Given the description of an element on the screen output the (x, y) to click on. 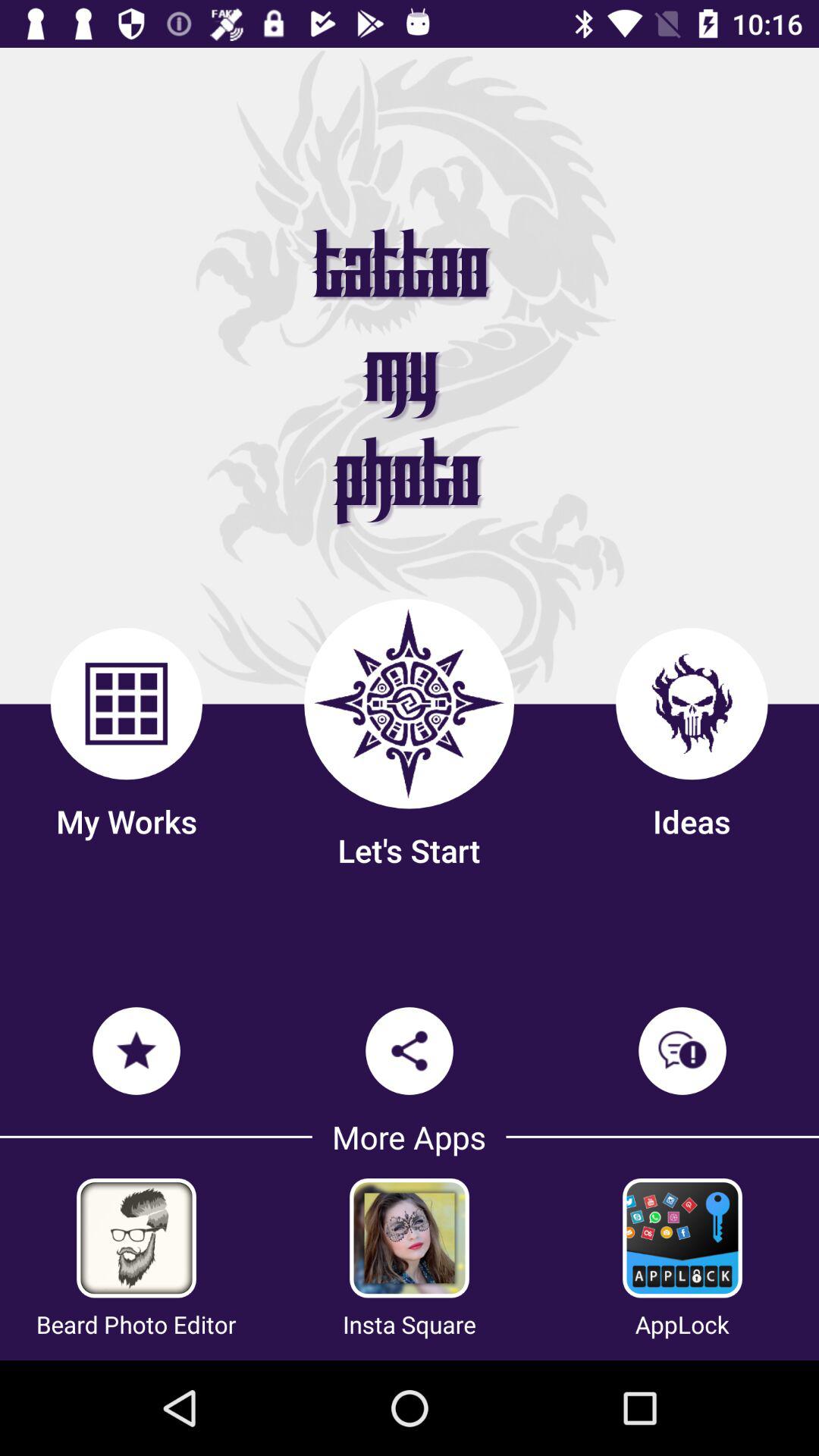
add beard to photo (136, 1237)
